Given the description of an element on the screen output the (x, y) to click on. 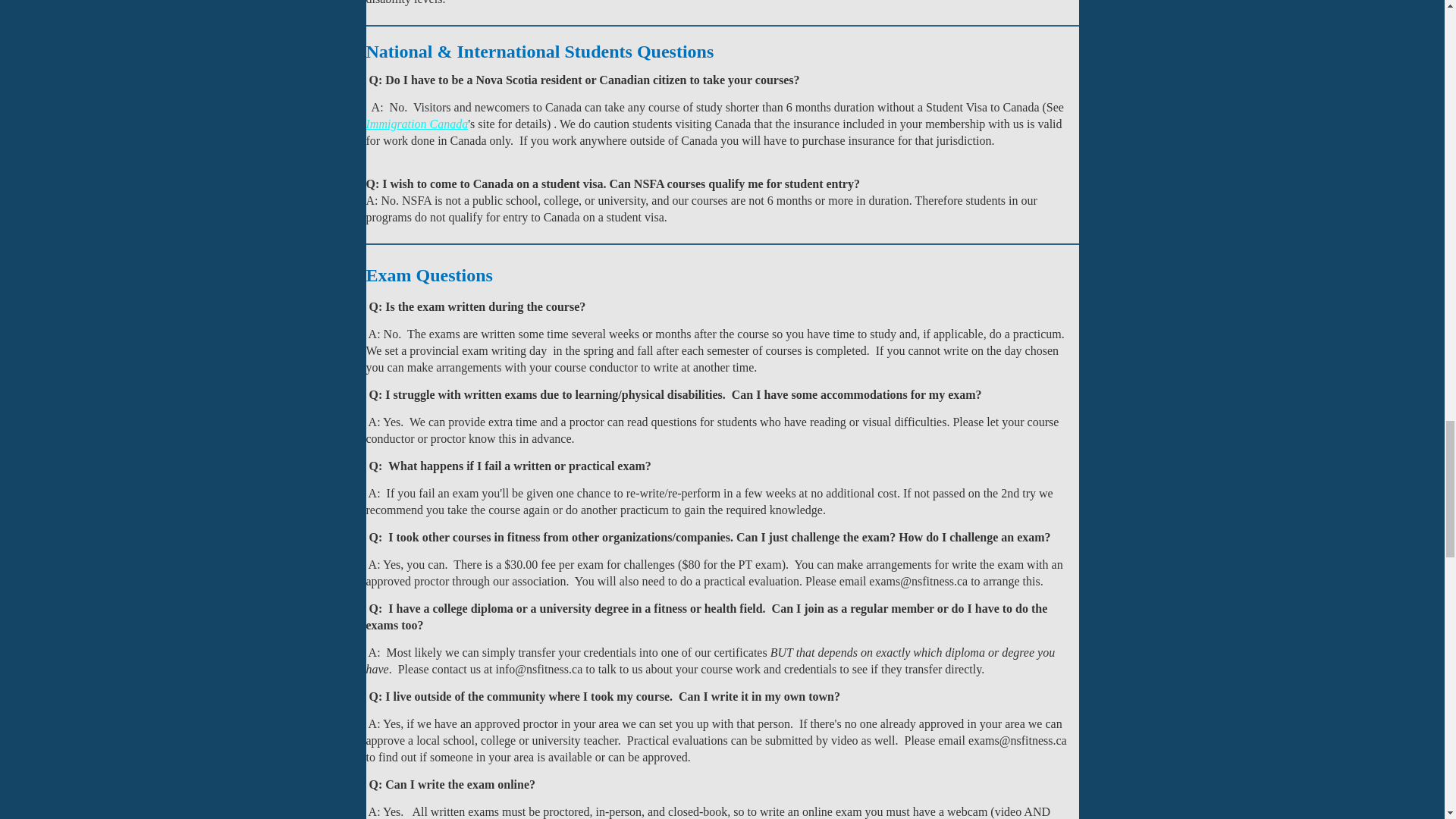
Immigration Canada (416, 123)
